Given the description of an element on the screen output the (x, y) to click on. 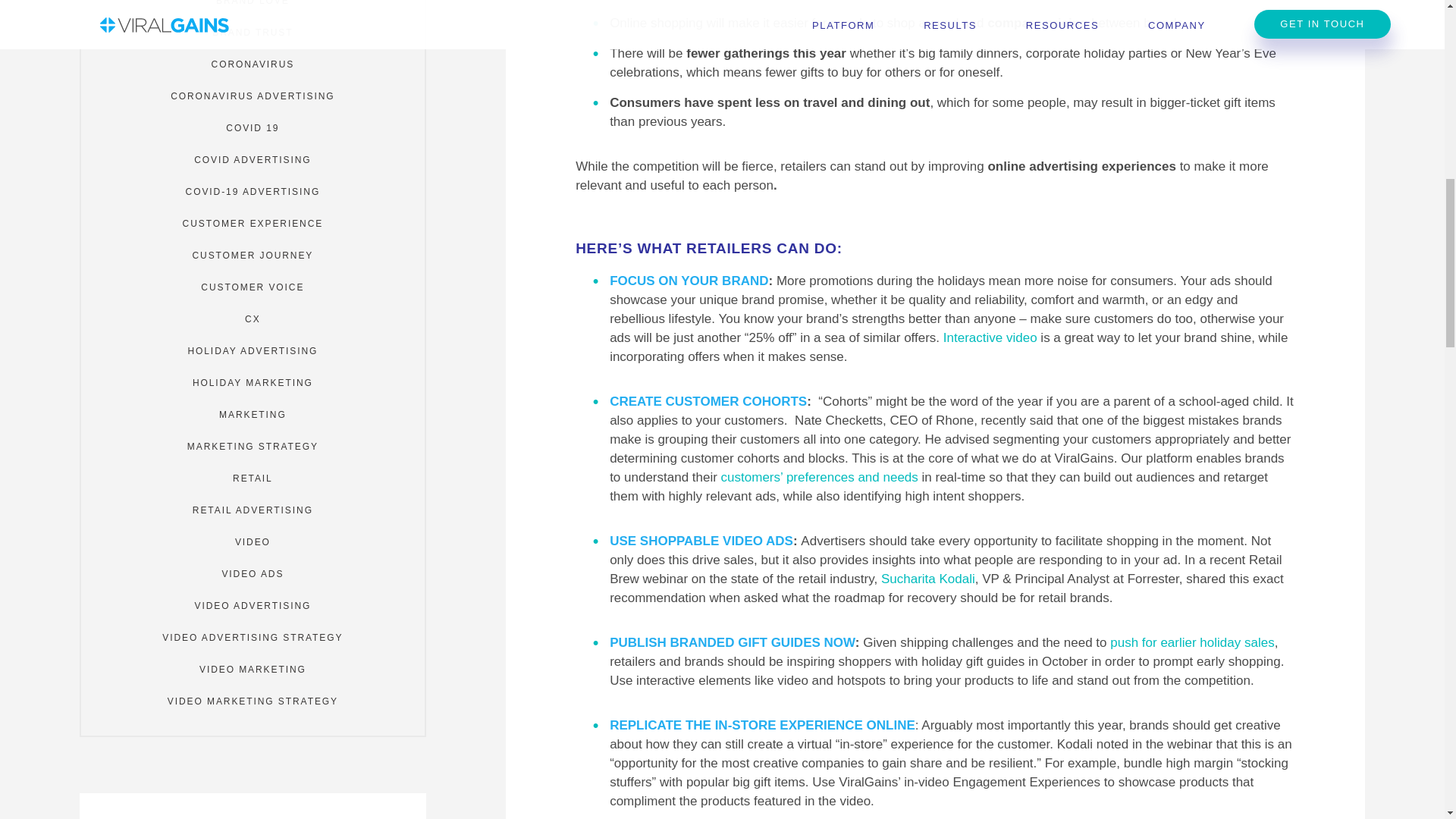
Interactive video (989, 337)
push for earlier holiday sales (1191, 642)
Sucharita Kodali (927, 578)
